Given the description of an element on the screen output the (x, y) to click on. 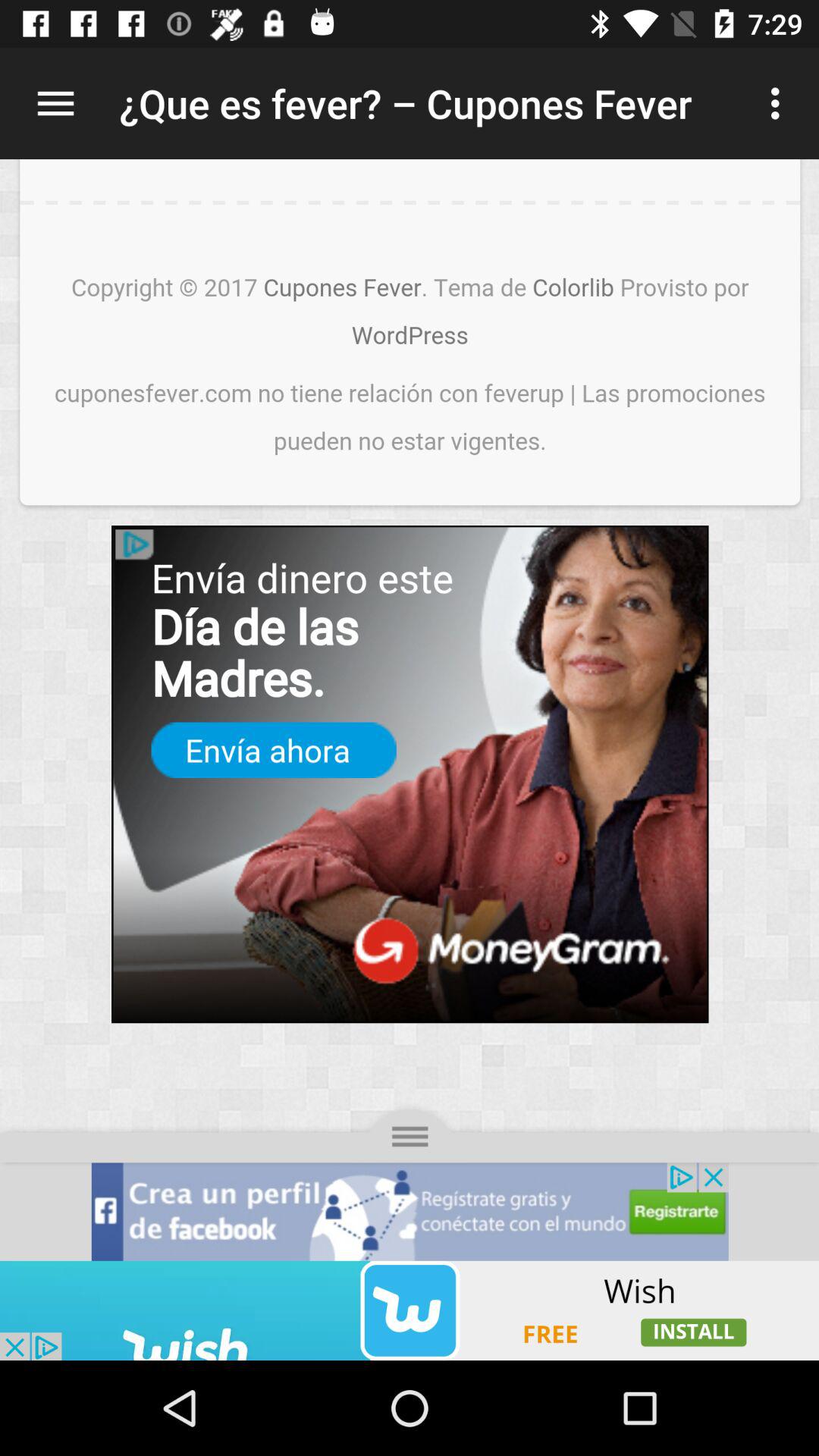
front page (409, 709)
